Given the description of an element on the screen output the (x, y) to click on. 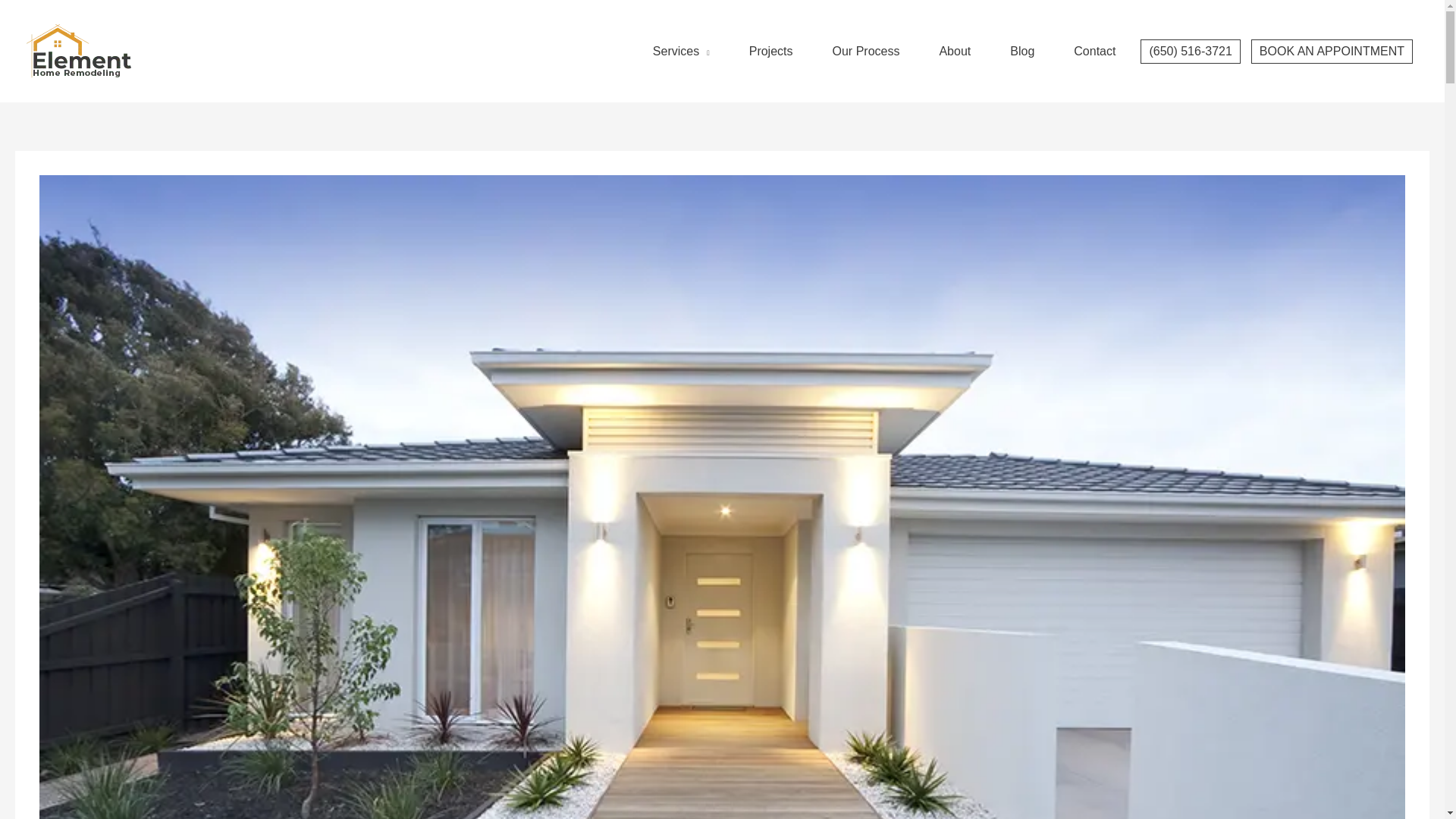
Services (681, 36)
About (954, 36)
Contact us  (1093, 36)
About us  (954, 36)
Projects (770, 36)
Blog (1021, 36)
Our Process (866, 36)
BOOK AN APPOINTMENT (1331, 36)
Contact (1093, 36)
